Given the description of an element on the screen output the (x, y) to click on. 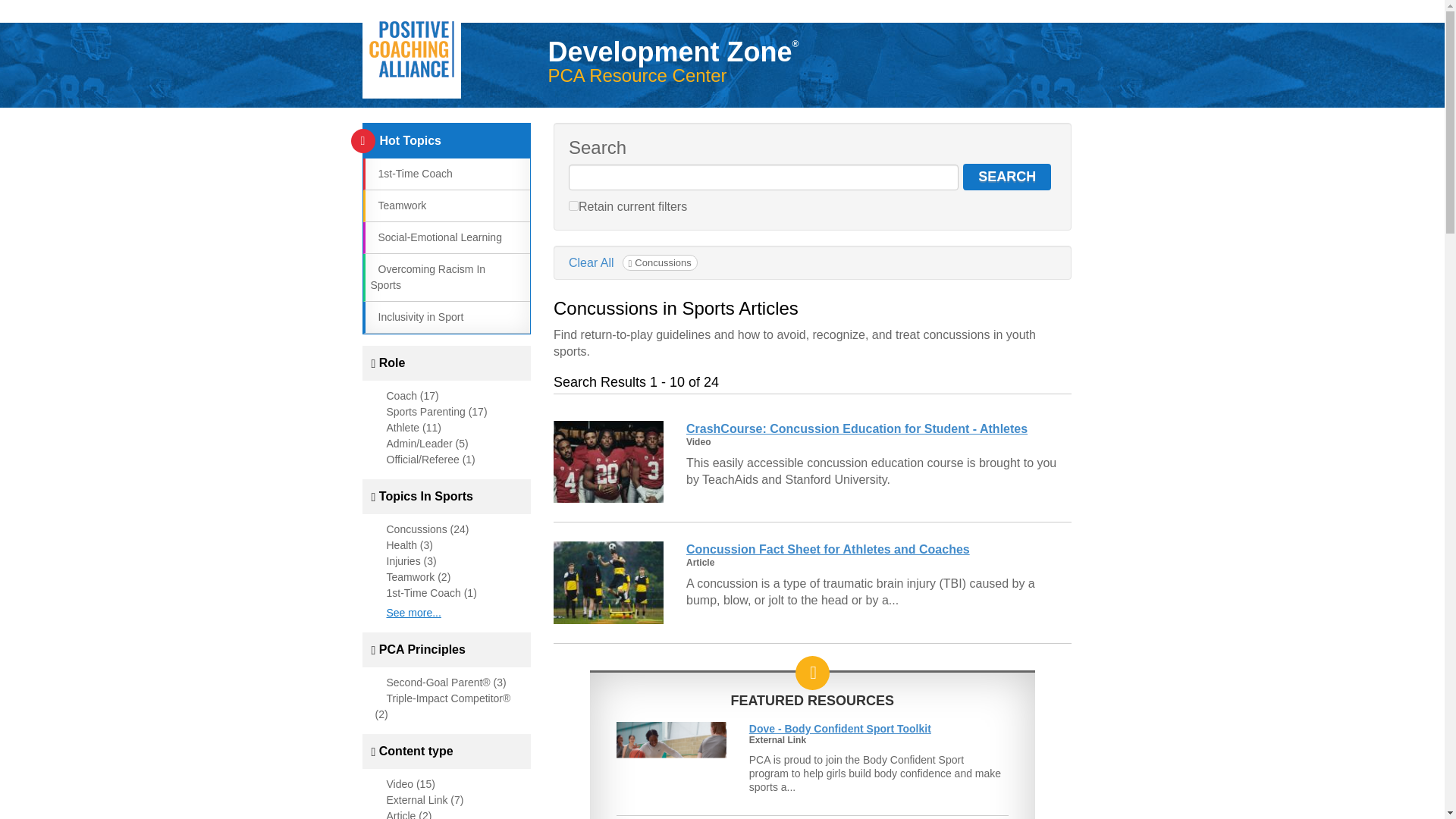
Concussions (660, 262)
Clear All (591, 262)
1st-Time Coach (410, 173)
1 (573, 205)
Inclusivity in Sport (416, 316)
See more... (414, 612)
Social-Emotional Learning (434, 236)
Overcoming Racism In Sports (426, 276)
SEARCH (1006, 176)
CrashCourse: Concussion Education for Student - Athletes (856, 428)
Teamwork (397, 205)
